Given the description of an element on the screen output the (x, y) to click on. 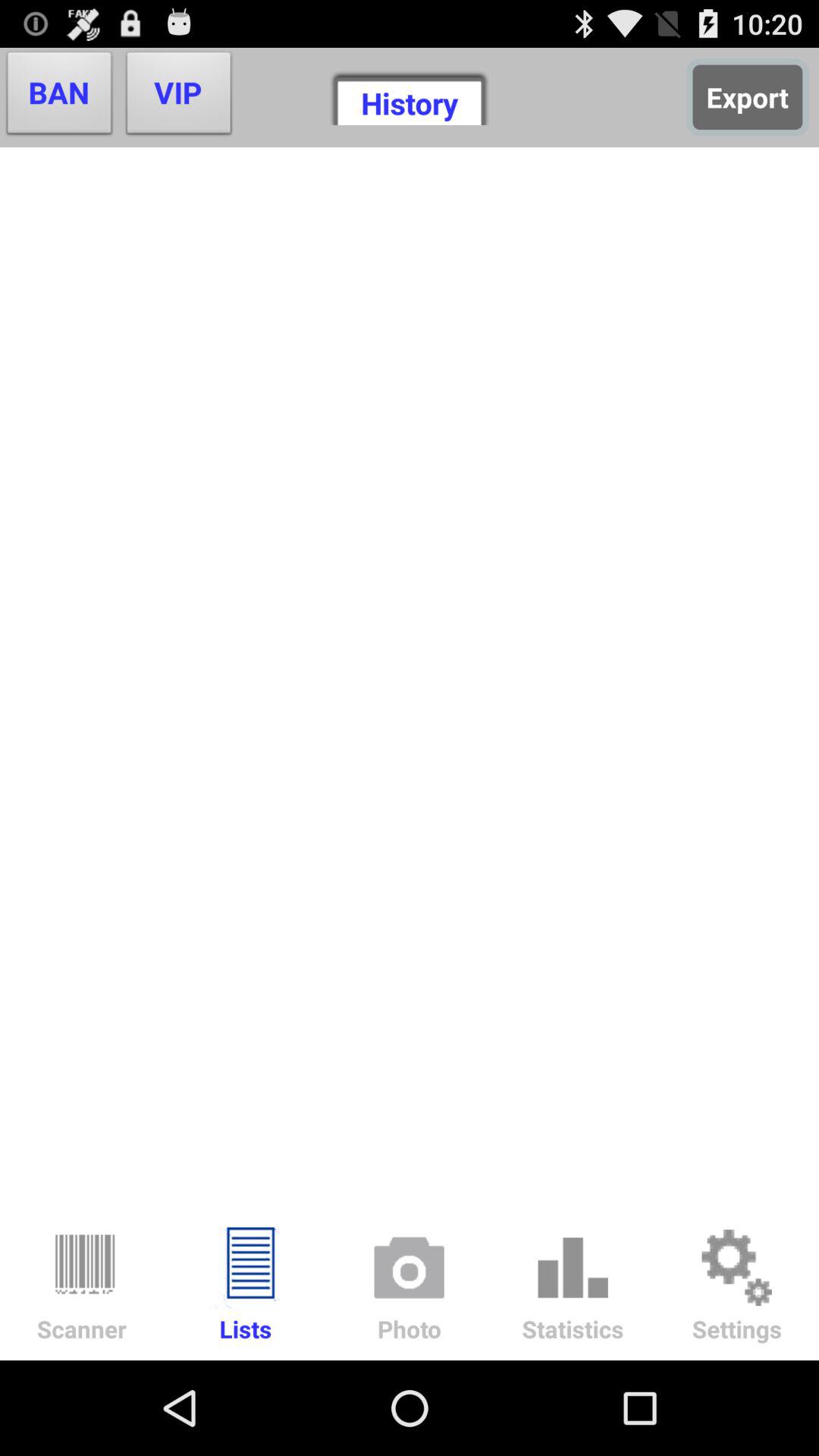
tap the export item (747, 96)
